Given the description of an element on the screen output the (x, y) to click on. 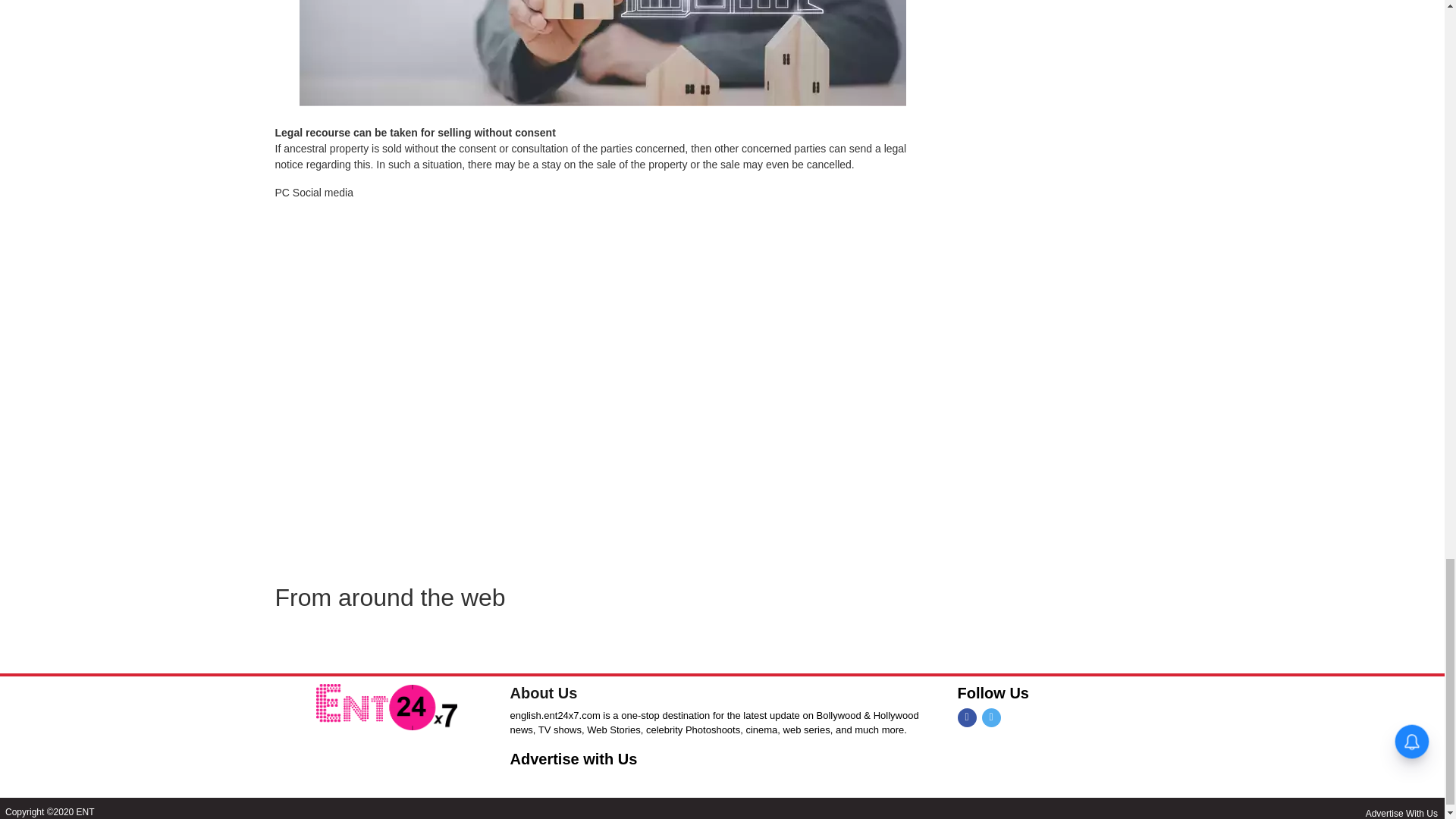
About Us (542, 692)
Facebook (965, 717)
Twitter (990, 717)
